Given the description of an element on the screen output the (x, y) to click on. 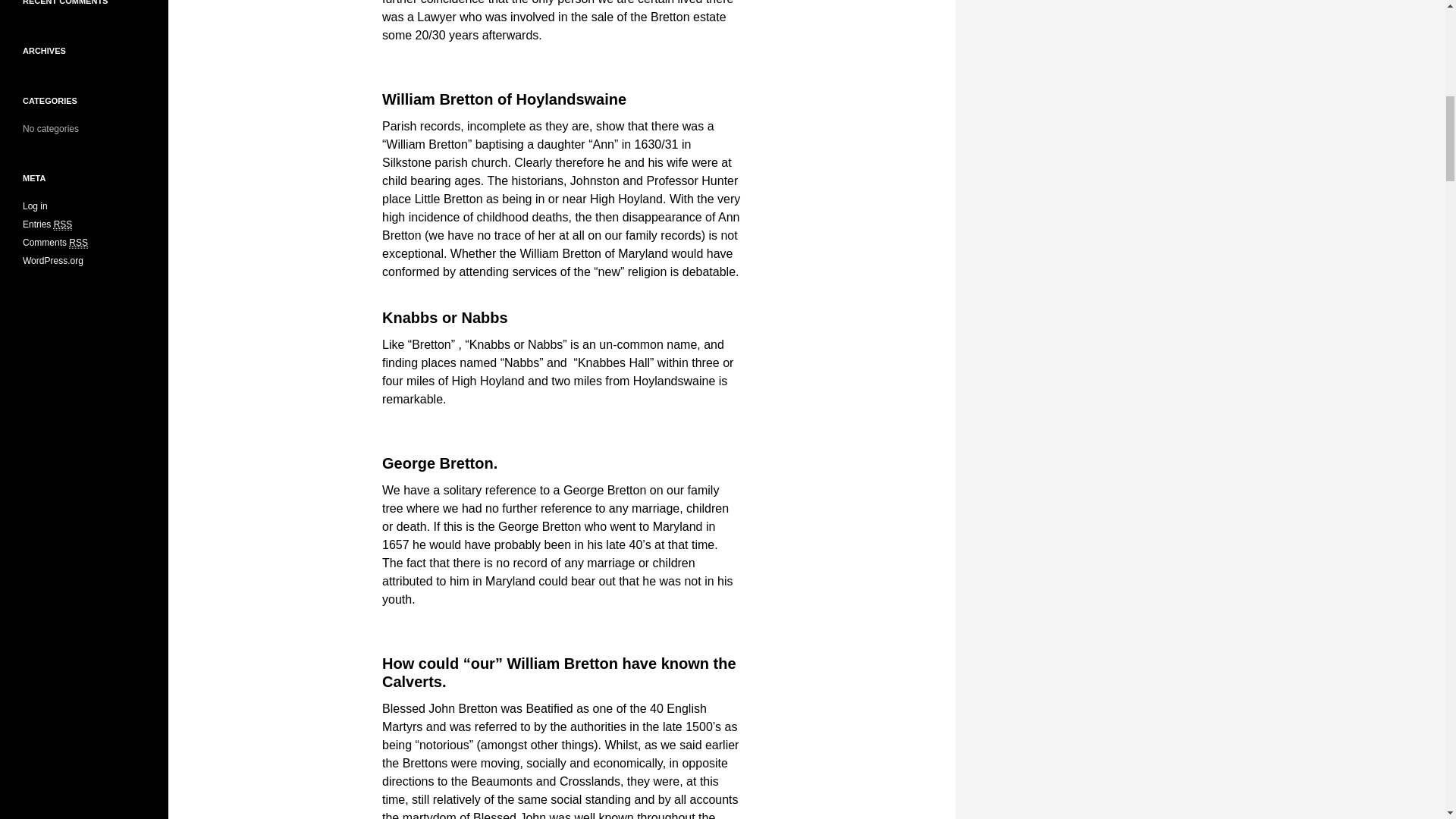
Really Simple Syndication (62, 224)
Really Simple Syndication (77, 242)
